Given the description of an element on the screen output the (x, y) to click on. 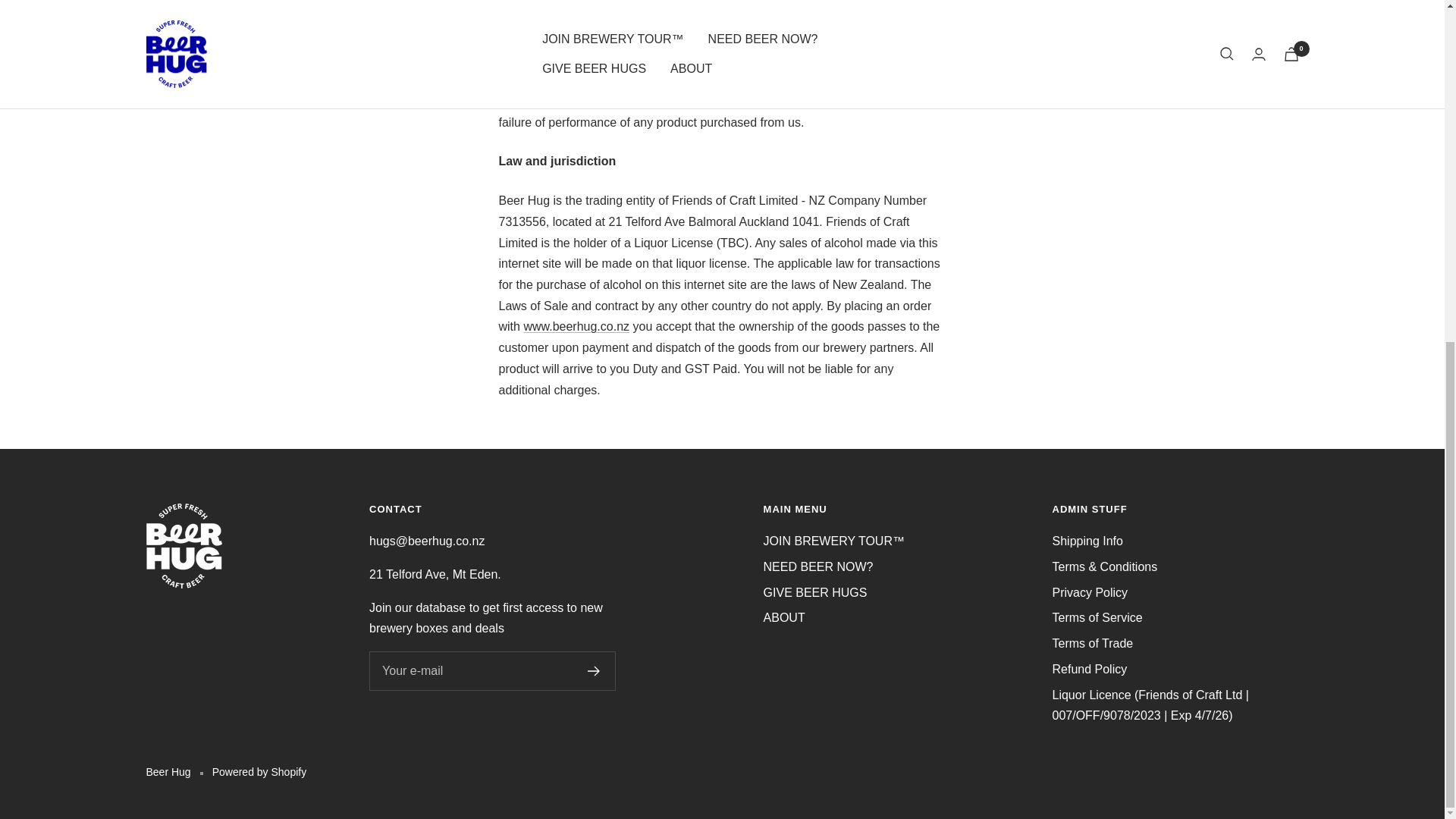
Terms of Trade (1093, 643)
Refund Policy (1089, 669)
Terms of Service (1097, 617)
GIVE BEER HUGS (814, 592)
NEED BEER NOW? (817, 567)
Register (593, 670)
Shipping Info (1087, 541)
ABOUT (783, 617)
Powered by Shopify (259, 772)
Privacy Policy (1090, 592)
www.beerhug.co.nz (575, 326)
